Given the description of an element on the screen output the (x, y) to click on. 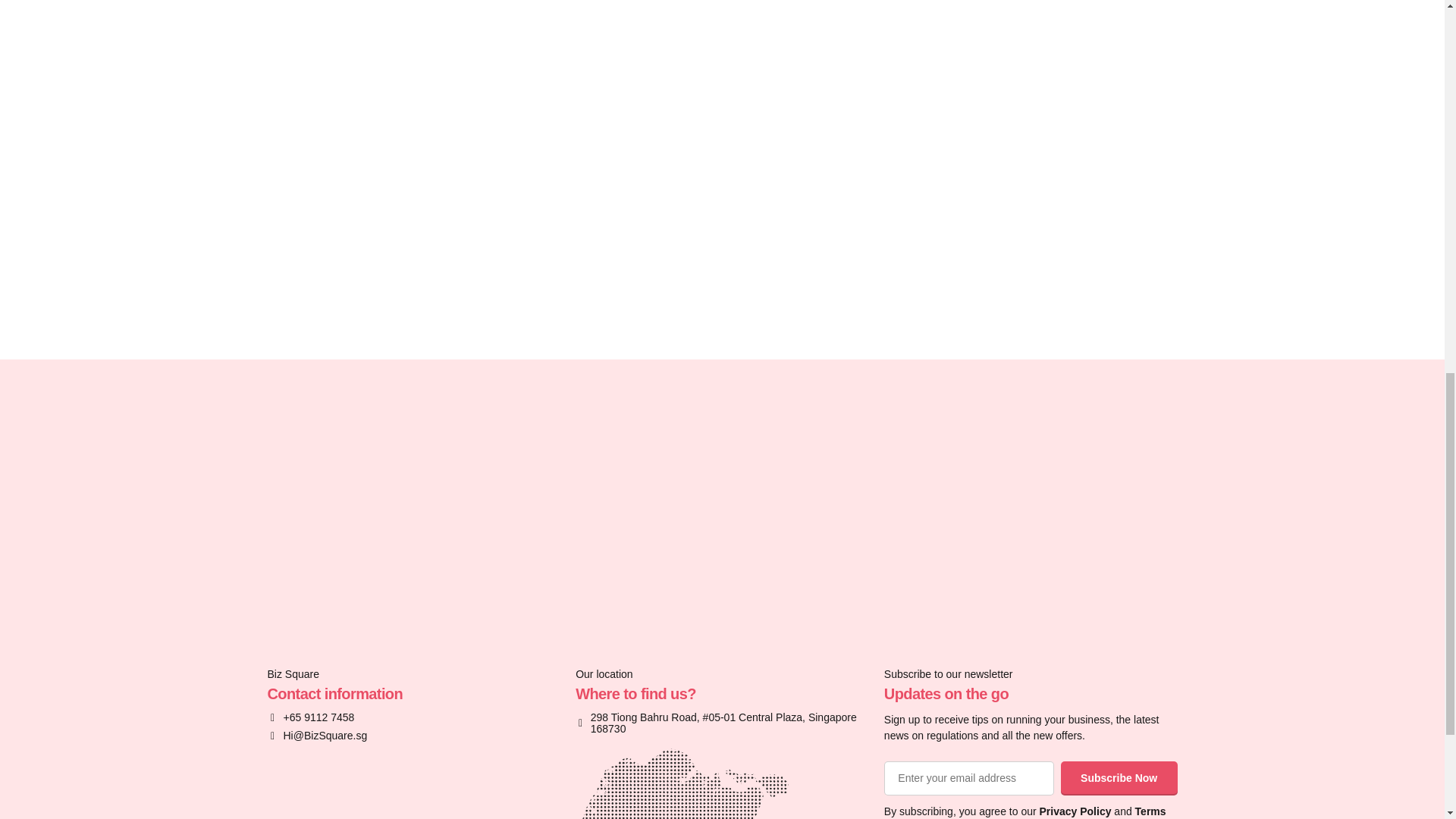
Terms of Business (1024, 812)
Subscribe Now (1119, 778)
Subscribe Now (1119, 778)
Privacy Policy (1075, 811)
